Given the description of an element on the screen output the (x, y) to click on. 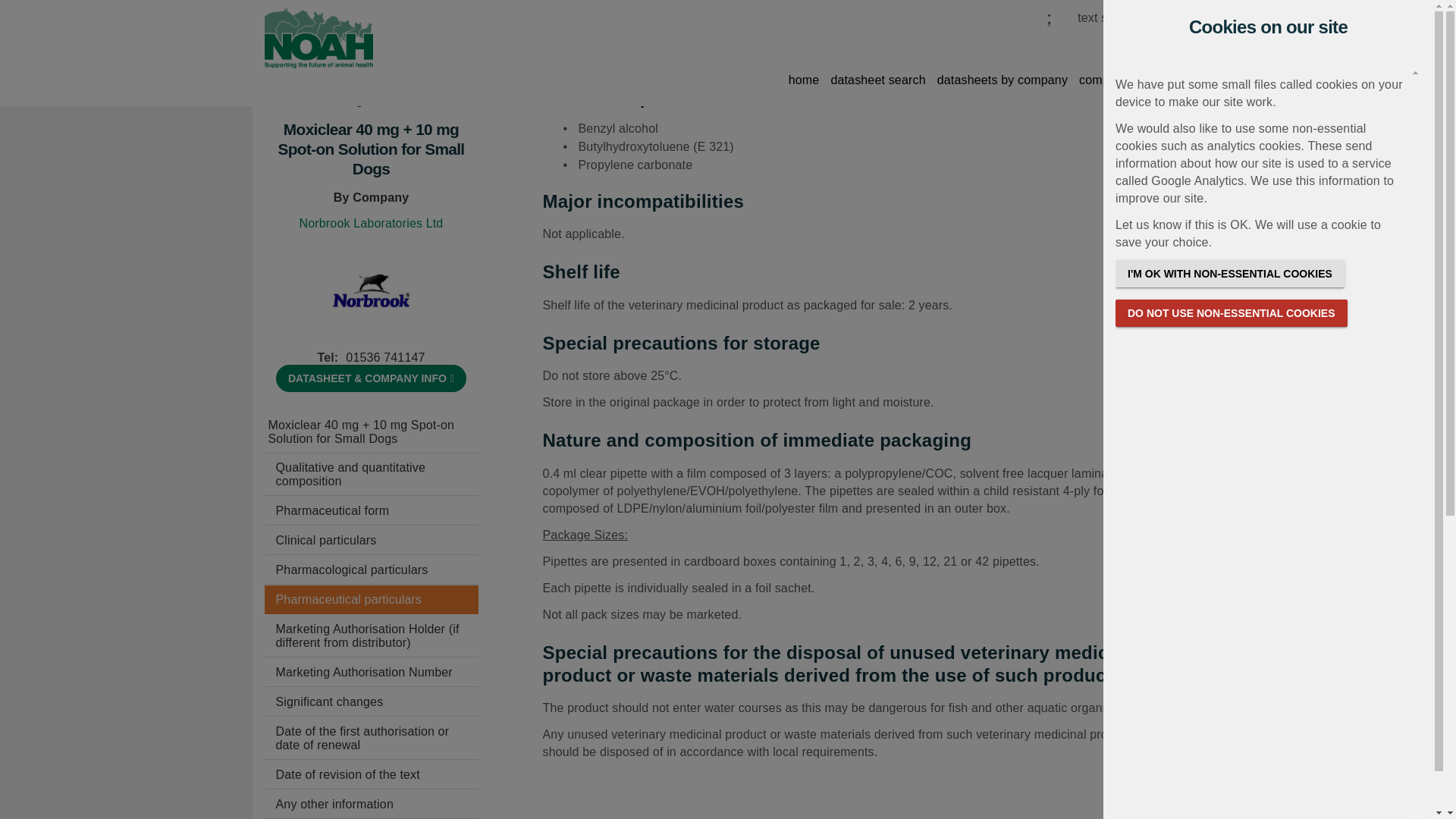
Significant changes (370, 701)
Pharmacological particulars (370, 570)
datasheets by company (1002, 82)
Marketing Authorisation Number (370, 672)
Date of revision of the text (370, 774)
Qualitative and quantitative composition (370, 474)
home (804, 82)
company directory (1128, 82)
Toggle publication metadata (370, 378)
Search (996, 45)
